Given the description of an element on the screen output the (x, y) to click on. 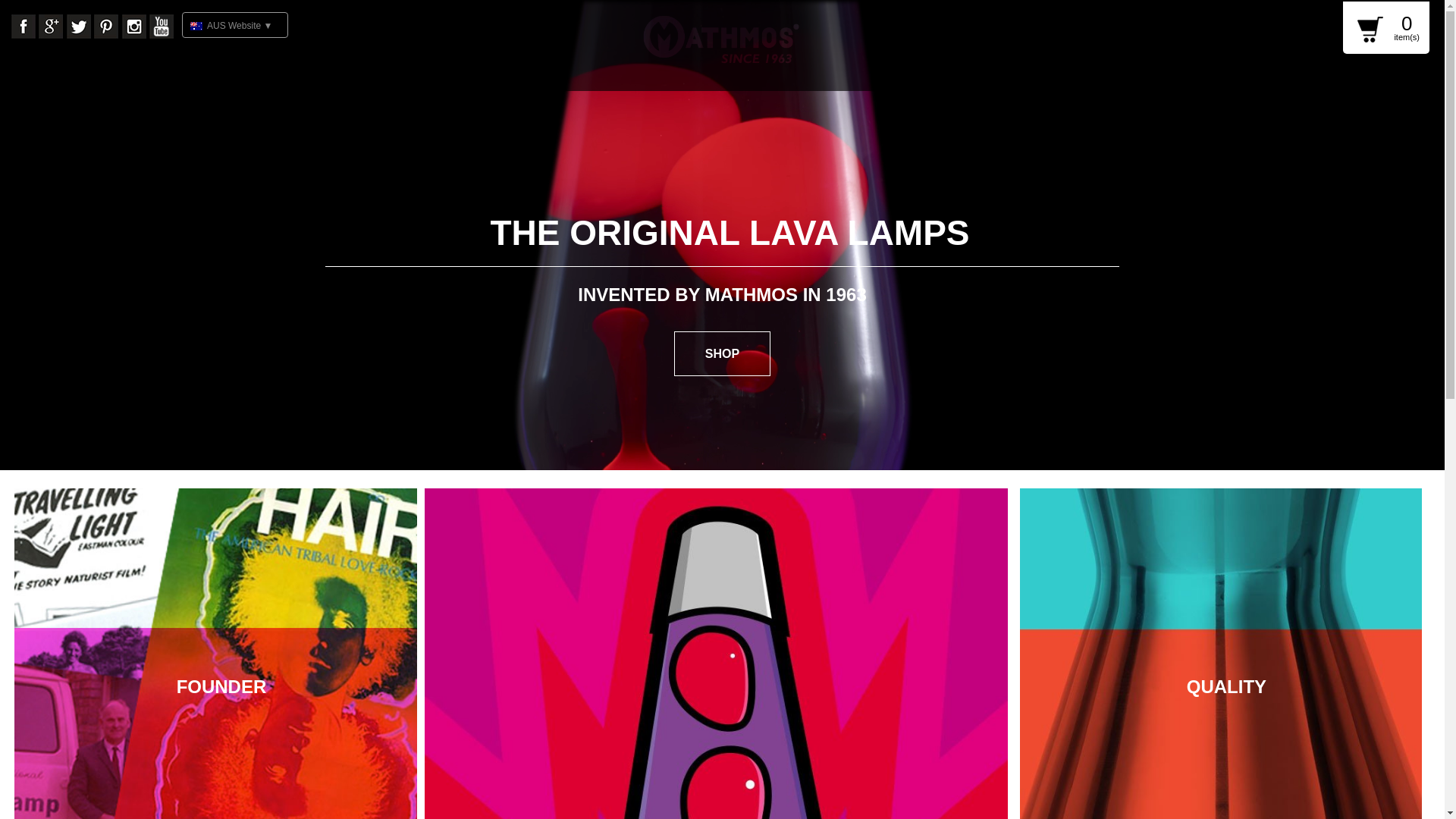
SHOP Element type: text (722, 353)
INVENTED BY MATHMOS IN 1963 Element type: text (721, 294)
THE ORIGINAL LAVA LAMPS Element type: text (729, 232)
